Given the description of an element on the screen output the (x, y) to click on. 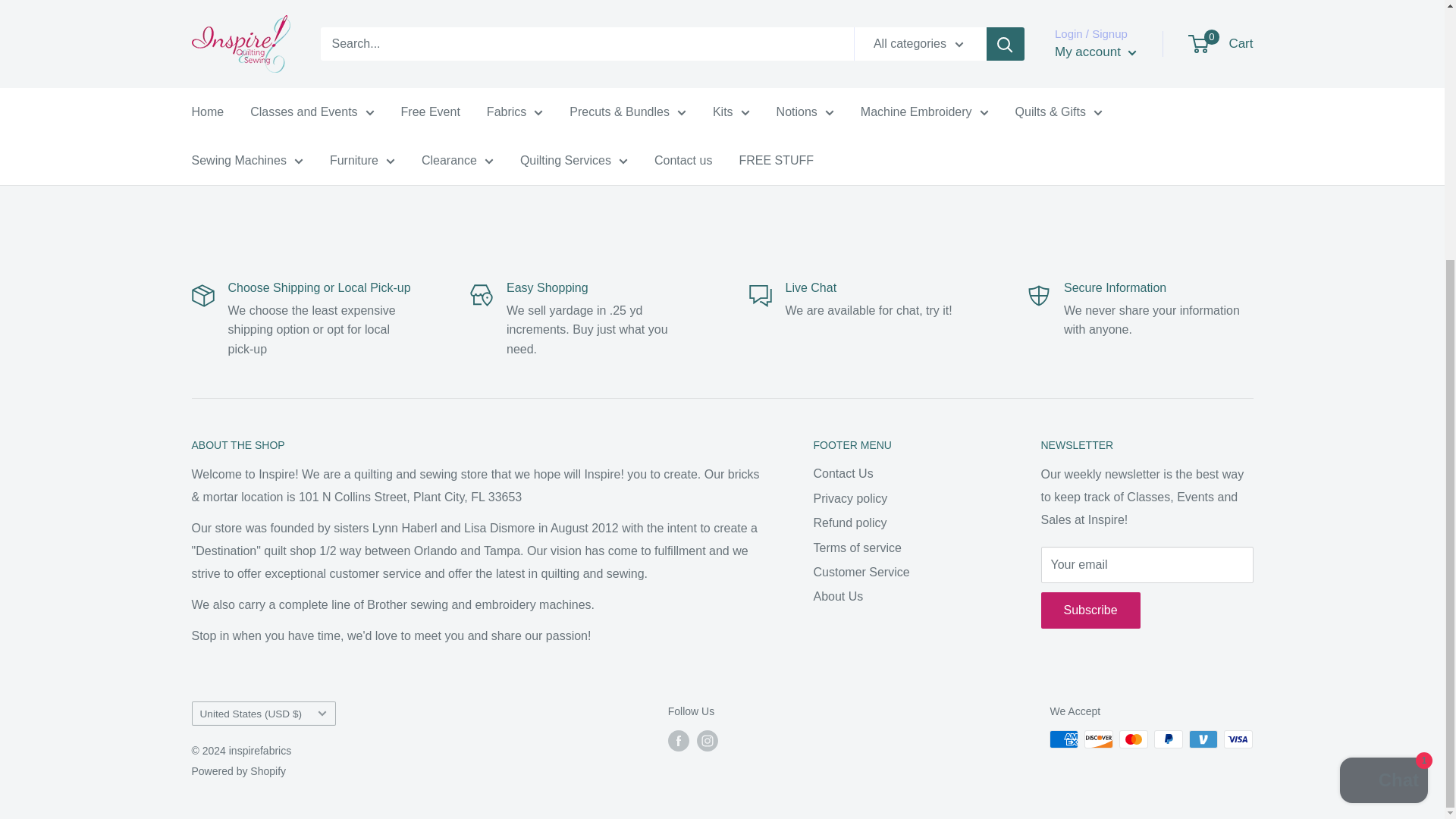
Shopify online store chat (1383, 409)
